Given the description of an element on the screen output the (x, y) to click on. 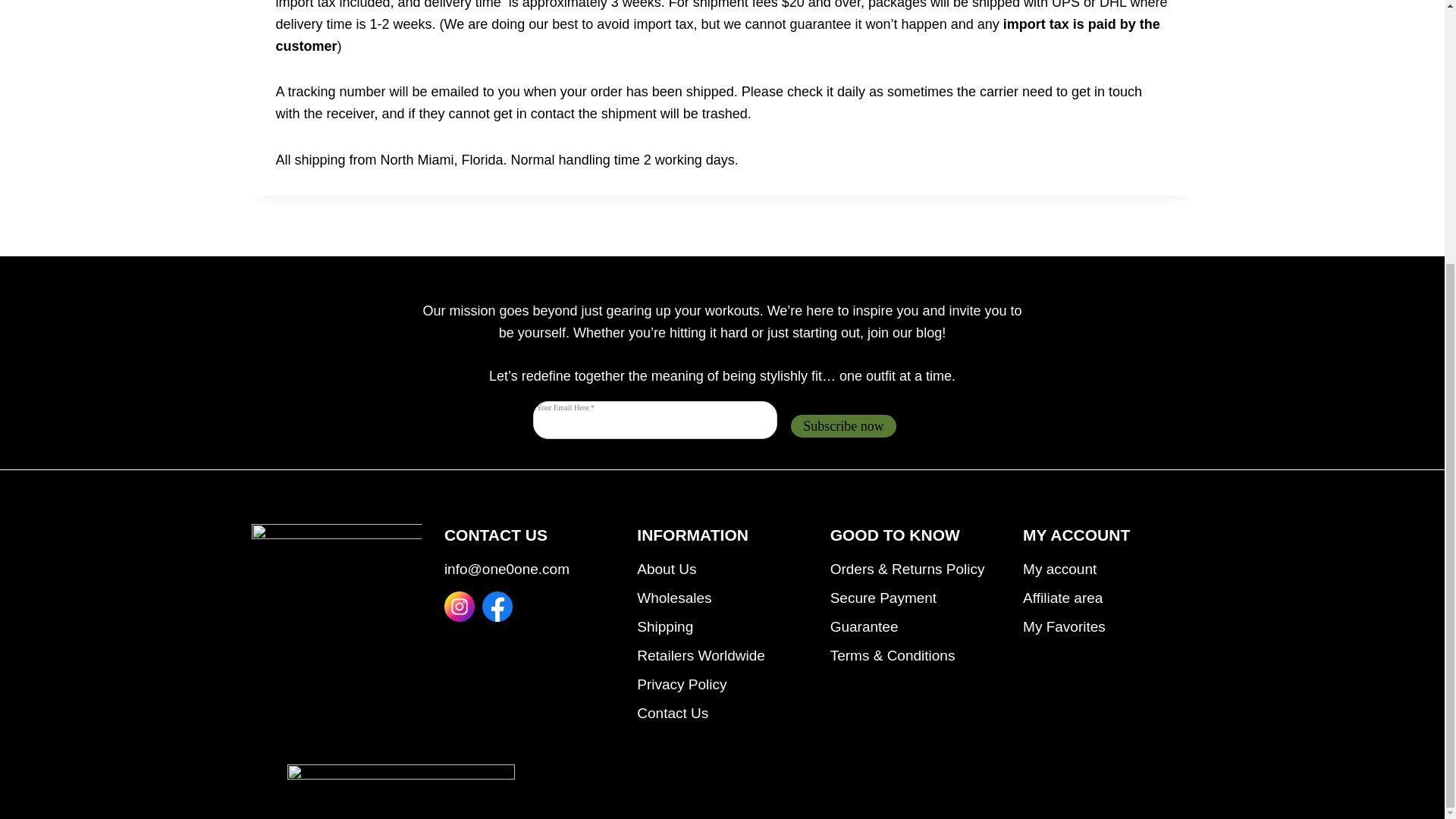
Secure Payment (914, 597)
Retailers Worldwide (721, 655)
Privacy Policy (721, 684)
Shipping (721, 626)
Wholesales (721, 597)
Guarantee (914, 626)
Contact Us (721, 713)
About Us (721, 569)
Subscribe now (843, 425)
